Given the description of an element on the screen output the (x, y) to click on. 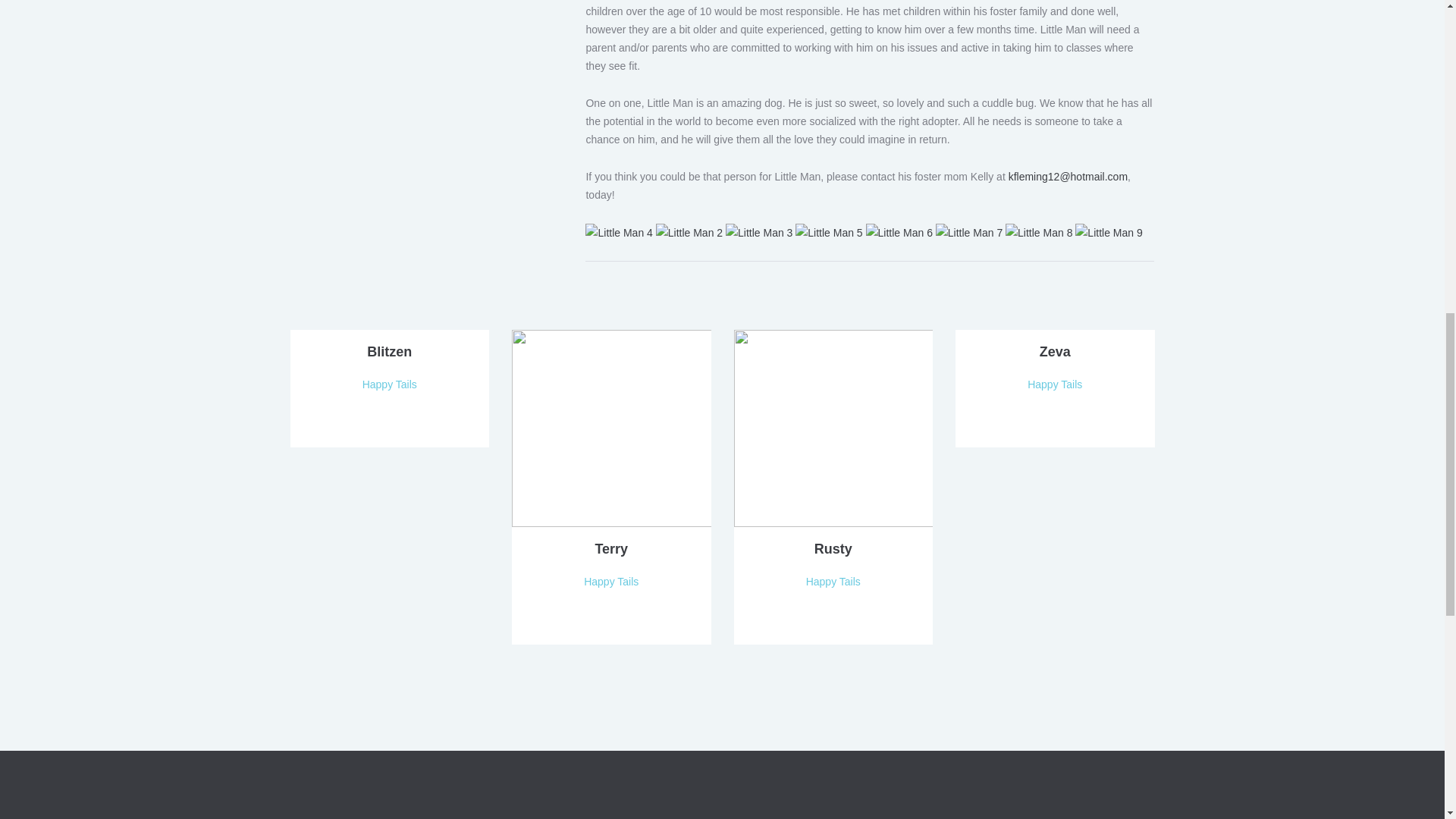
Rusty (833, 427)
Terry (610, 548)
Blitzen (389, 351)
Happy Tails (389, 384)
Terry (611, 427)
